Given the description of an element on the screen output the (x, y) to click on. 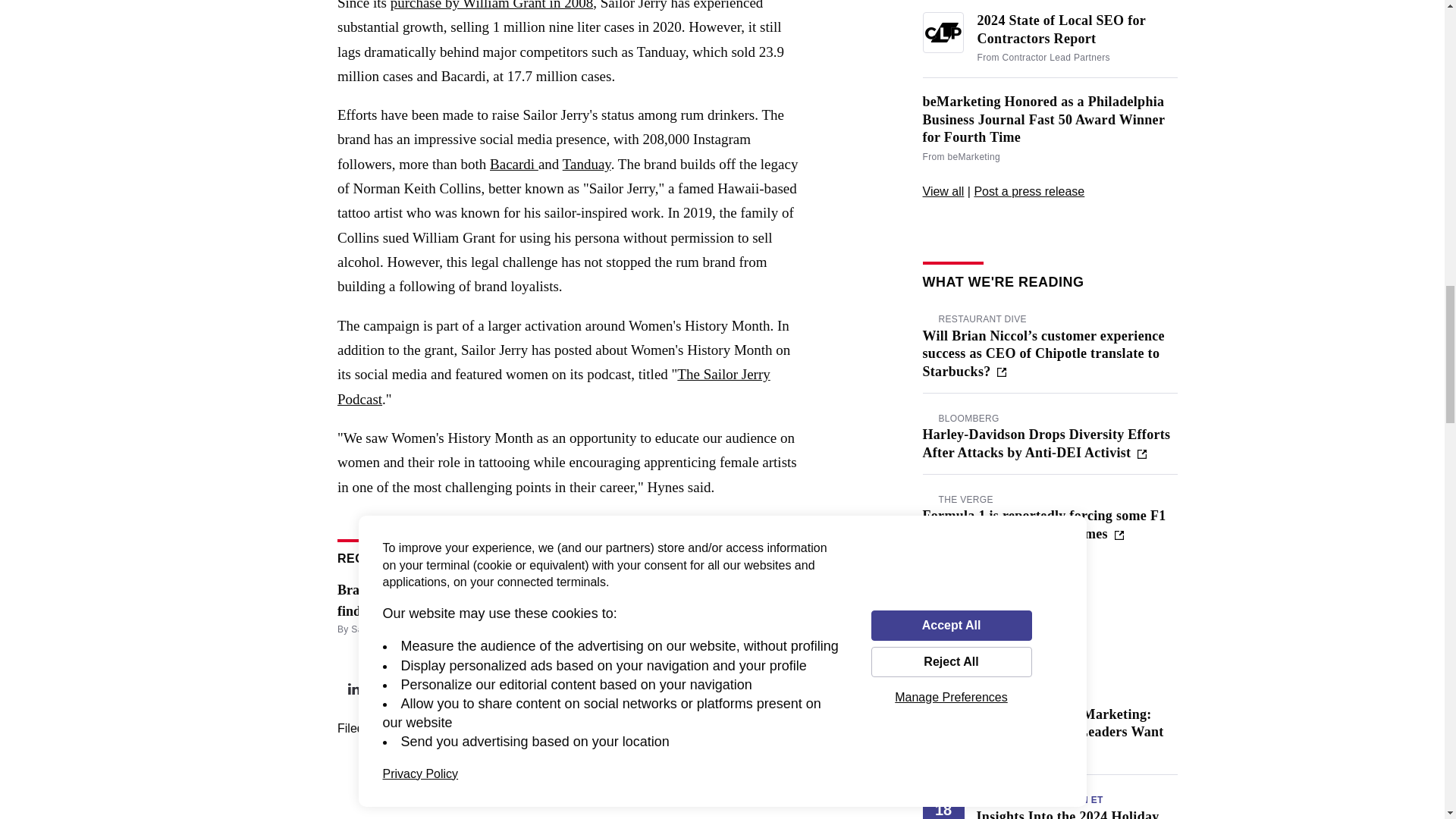
Share (385, 689)
Email (480, 689)
Print (448, 689)
Post (353, 689)
purchase by William Grant in 2008 (491, 5)
Post (416, 689)
License (714, 689)
